Given the description of an element on the screen output the (x, y) to click on. 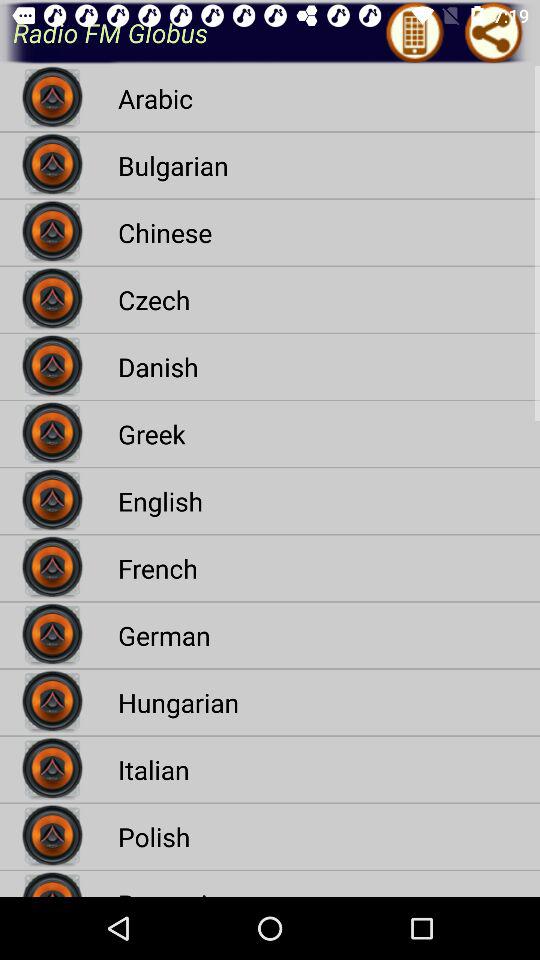
the icon left to share icon at top right of the page (415, 63)
